Given the description of an element on the screen output the (x, y) to click on. 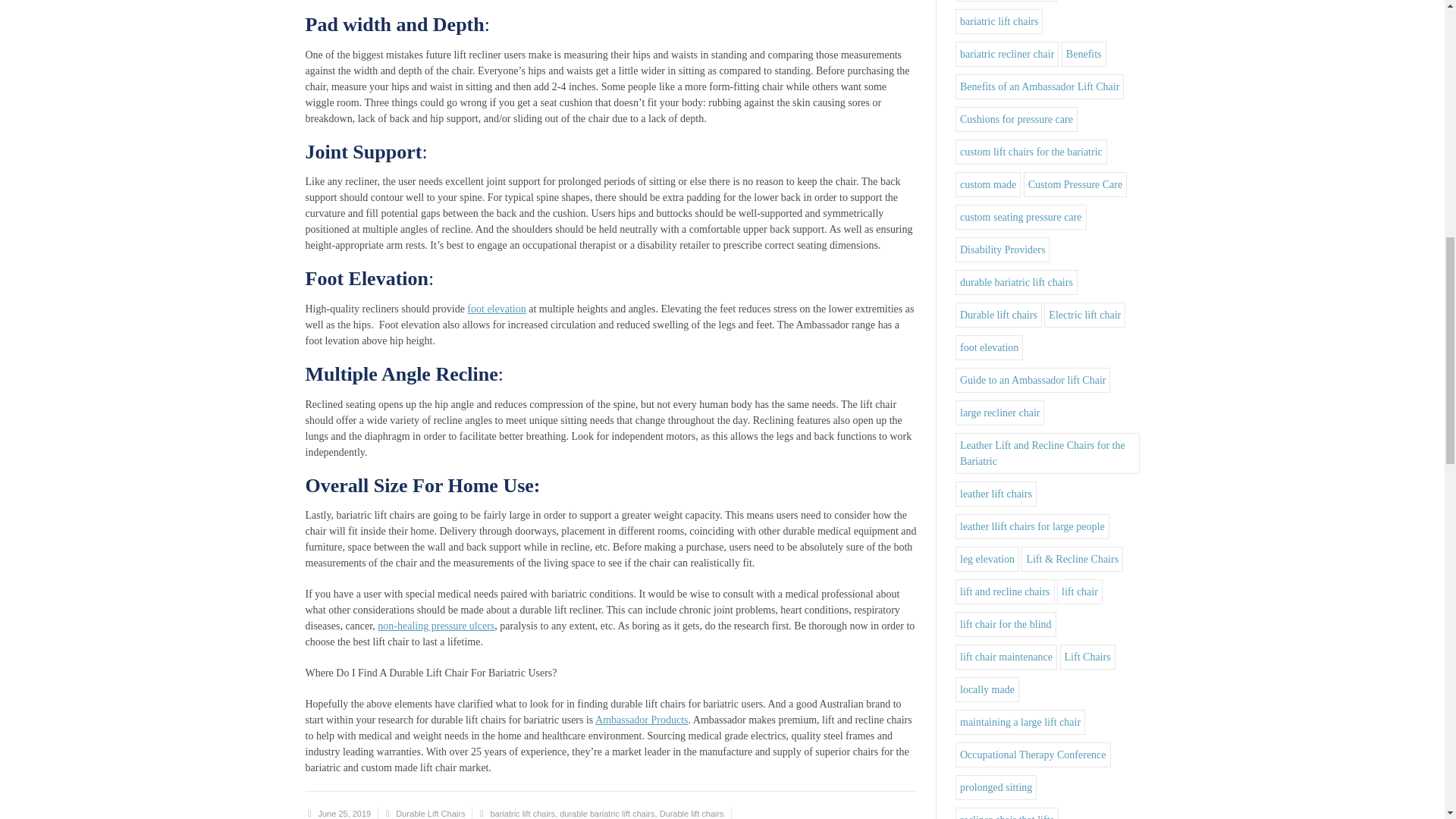
bariatric lift chairs (521, 813)
non-healing pressure ulcers (436, 625)
Ambassador Products (641, 719)
durable bariatric lift chairs (606, 813)
June 25, 2019 (344, 813)
foot elevation (496, 308)
Durable Lift Chairs (430, 813)
Durable lift chairs (691, 813)
